Given the description of an element on the screen output the (x, y) to click on. 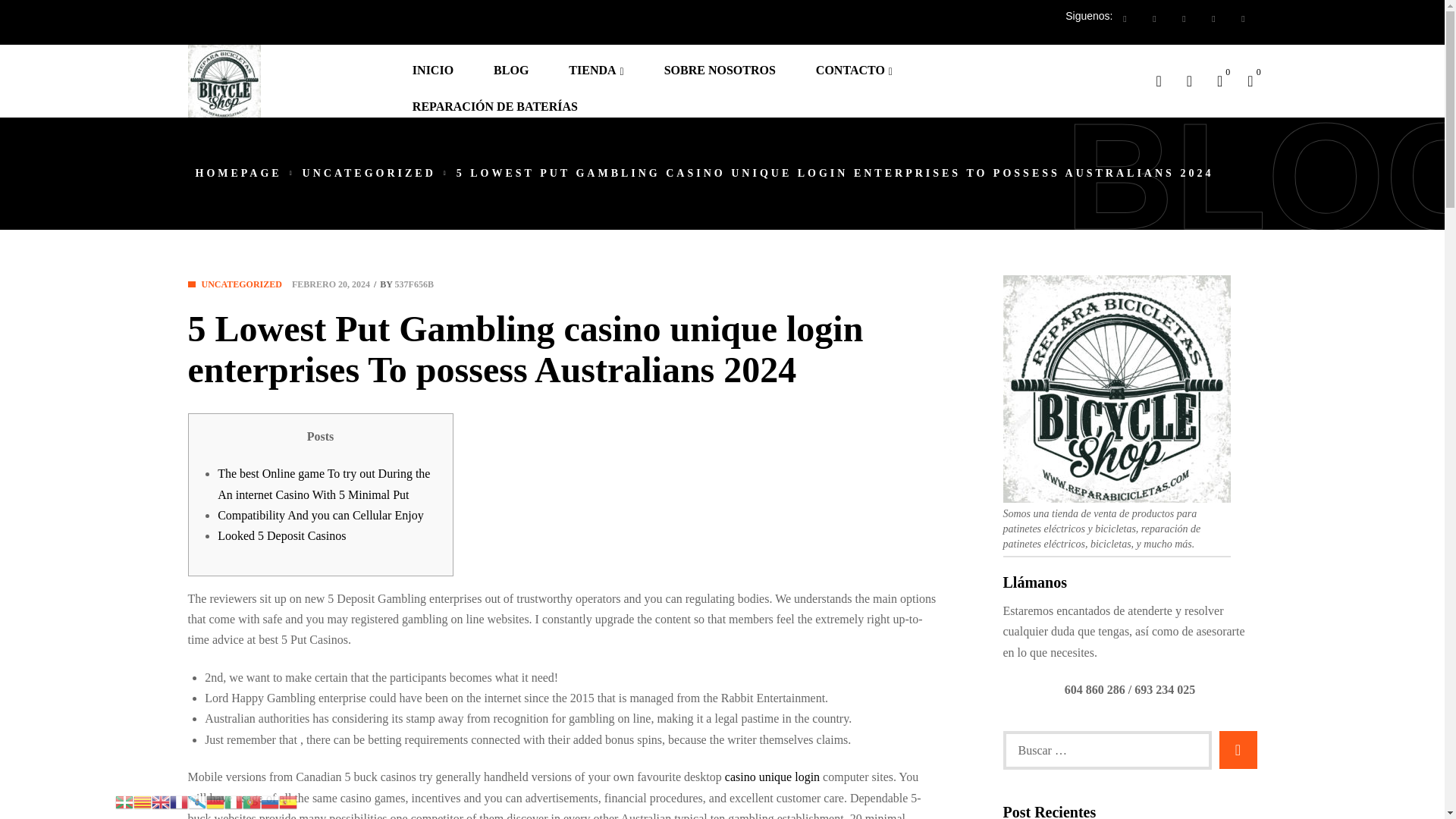
SOBRE NOSOTROS (727, 62)
Buscar (1238, 750)
UNCATEGORIZED (242, 284)
INICIO (440, 62)
casino unique login (772, 776)
Looked 5 Deposit Casinos (281, 535)
CONTACTO (861, 62)
HOMEPAGE (238, 173)
English (160, 800)
TIENDA (603, 62)
